Given the description of an element on the screen output the (x, y) to click on. 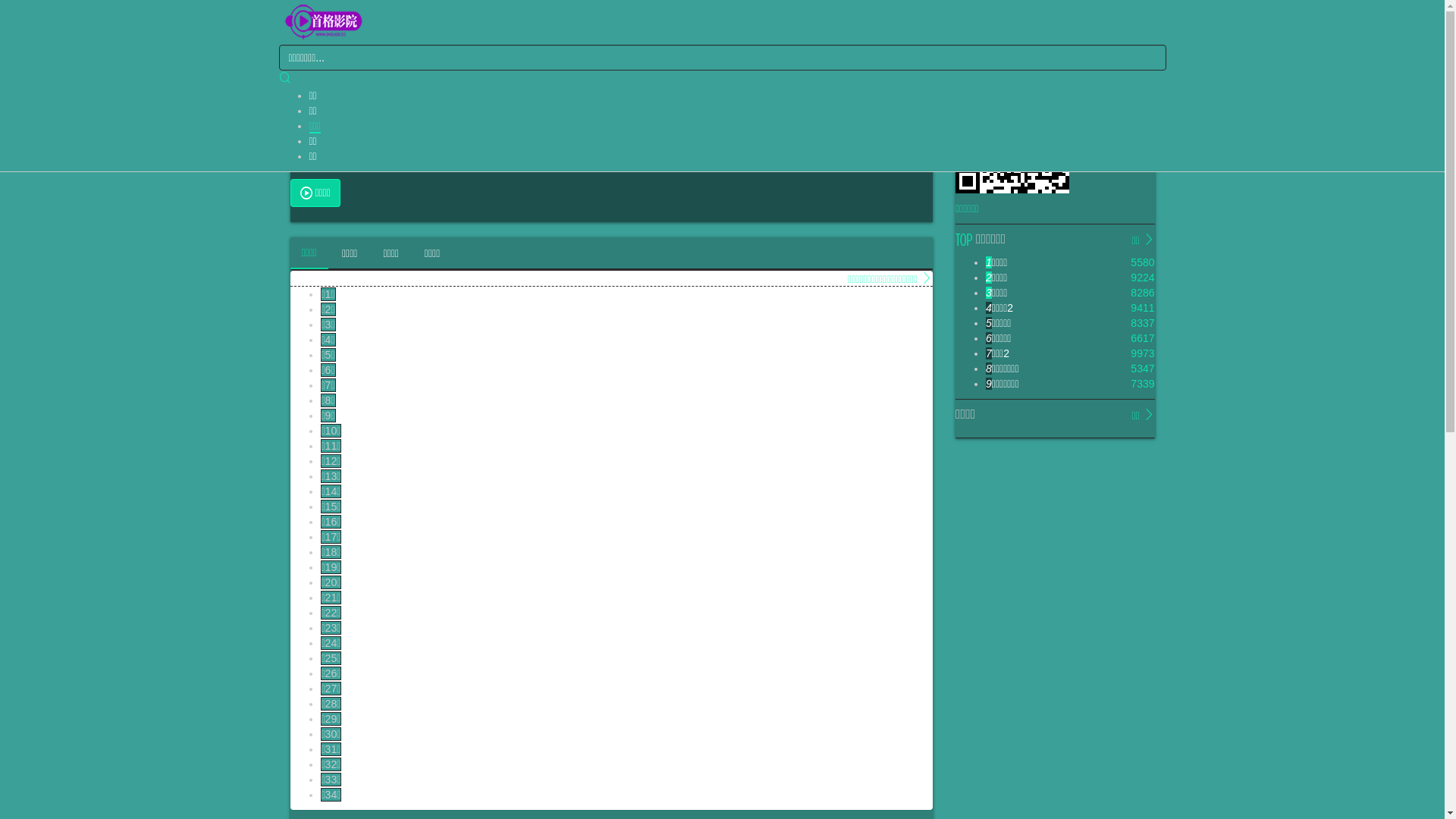
2010 Element type: text (661, 148)
